Given the description of an element on the screen output the (x, y) to click on. 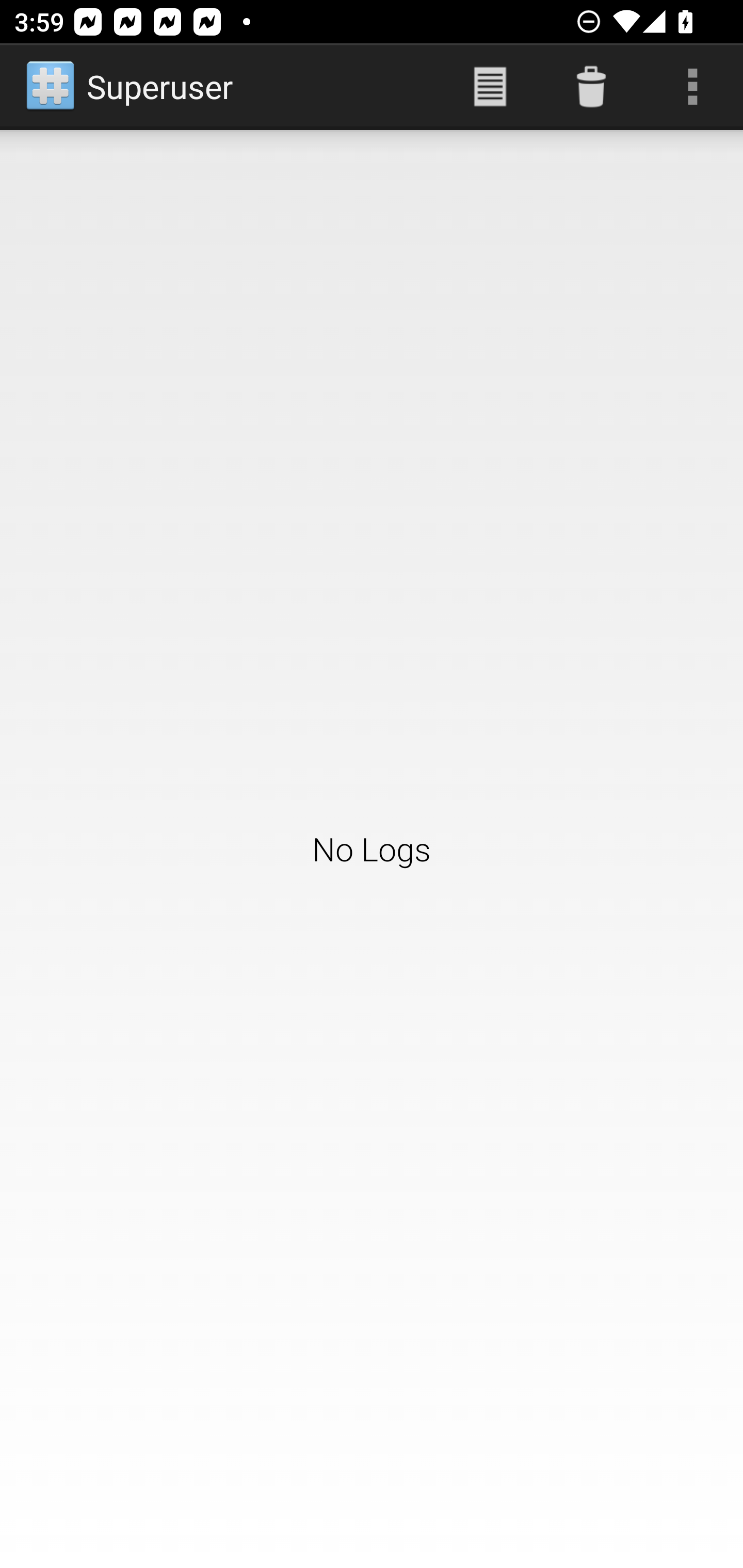
Superuser (130, 86)
Logs (489, 86)
Delete (590, 86)
More options (692, 86)
